Given the description of an element on the screen output the (x, y) to click on. 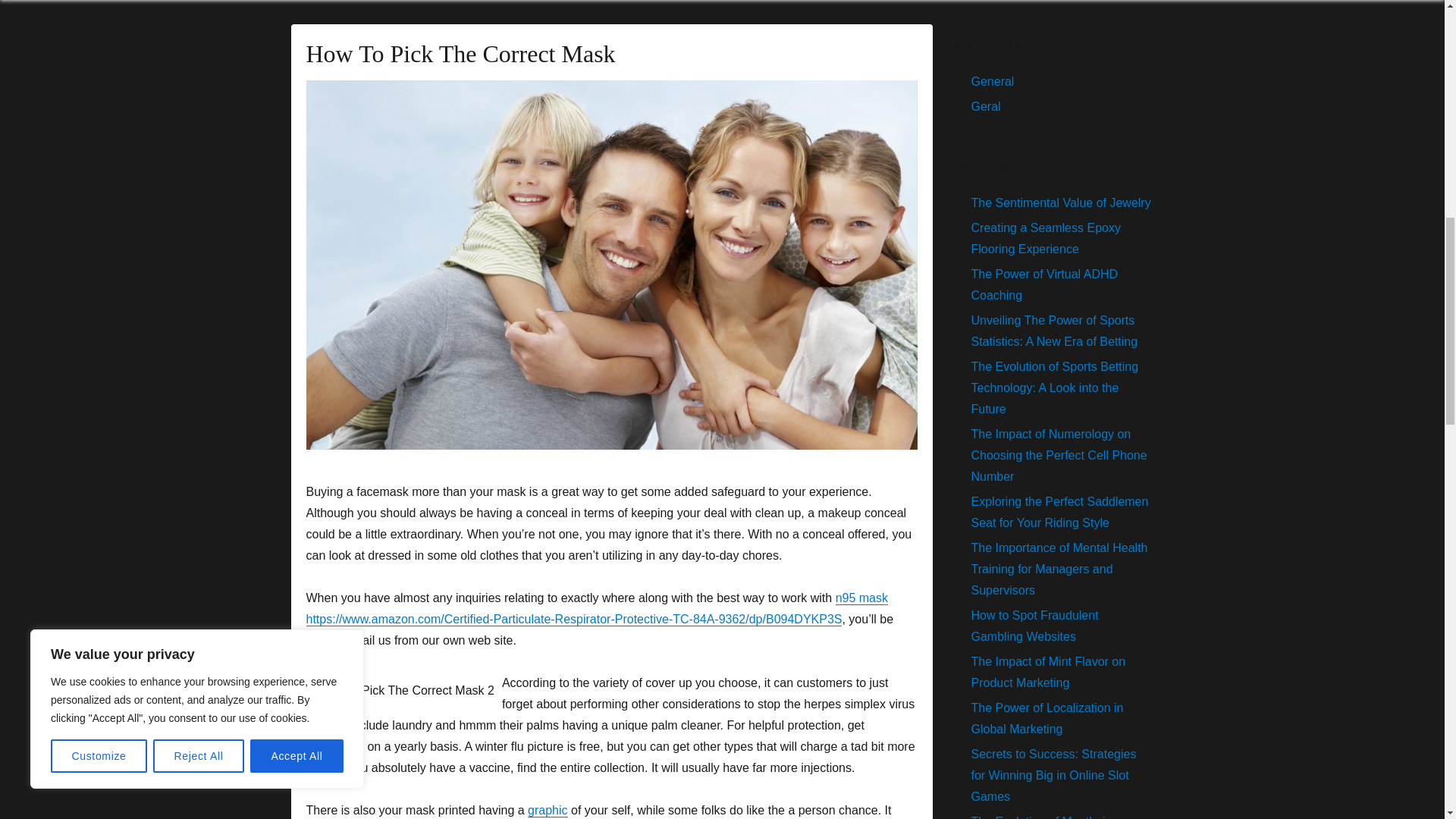
The Sentimental Value of Jewelry (1060, 202)
General (992, 81)
graphic (547, 809)
Creating a Seamless Epoxy Flooring Experience (1045, 238)
Geral (985, 106)
